Given the description of an element on the screen output the (x, y) to click on. 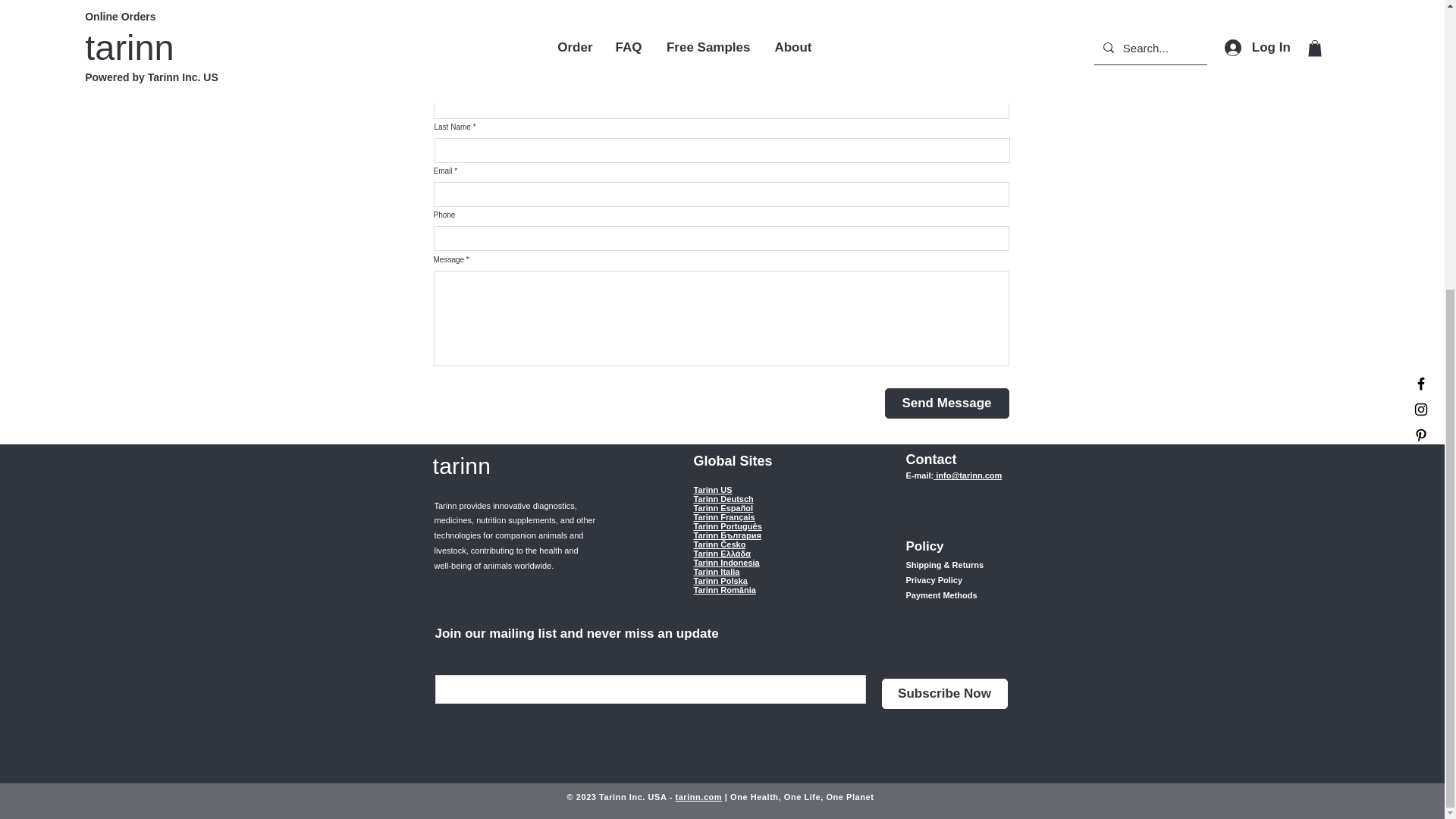
Privacy Policy (933, 579)
Tarinn Indonesia (725, 561)
Contact (930, 458)
Tarinn Deutsch (722, 497)
Global Sites (732, 459)
Subscribe Now (943, 693)
Tarinn Polska (719, 579)
Join our mailing list and never miss an update (577, 632)
Send Message (946, 402)
tarinn.com (698, 796)
